Given the description of an element on the screen output the (x, y) to click on. 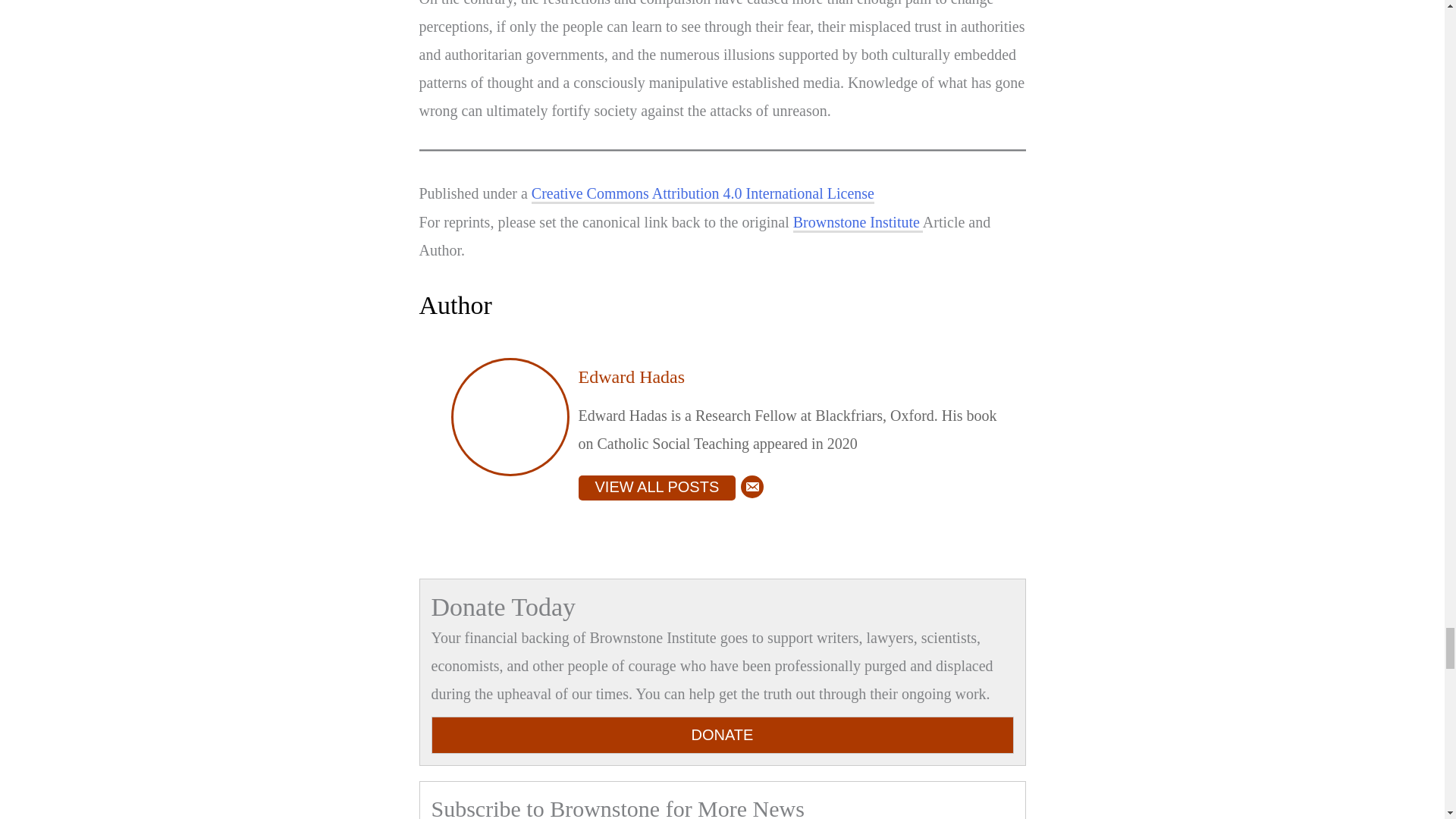
View all posts (656, 487)
Edward Hadas (631, 376)
